Given the description of an element on the screen output the (x, y) to click on. 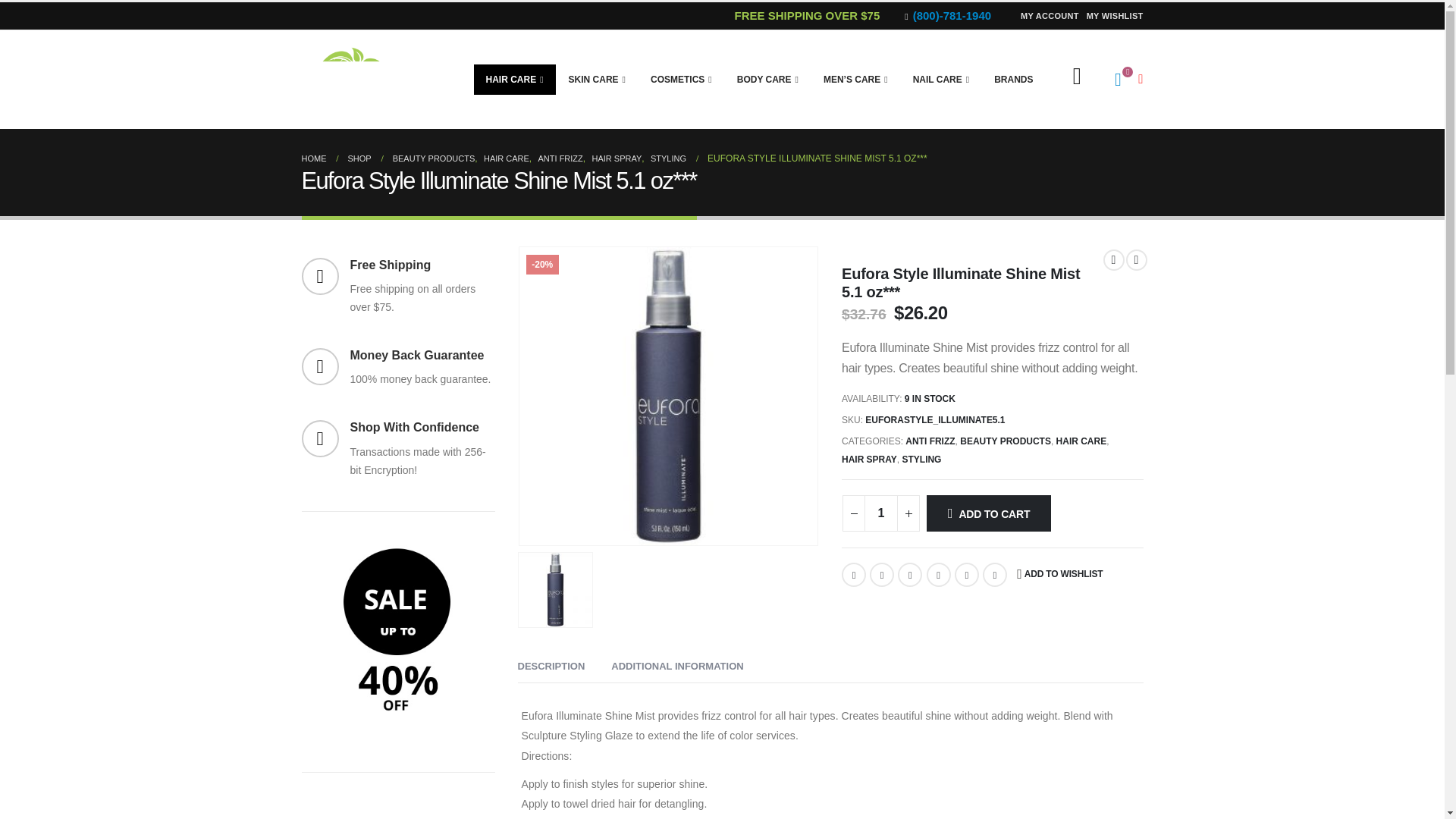
HAIR CARE (515, 79)
Email (994, 574)
Qty (881, 513)
SKIN CARE (596, 79)
Go to Home Page (313, 158)
Facebook (853, 574)
1 (881, 513)
eufora illuminate 5.1 (667, 396)
MY ACCOUNT (1049, 15)
UltraBeauty.shop - Professional Beauty Products (362, 79)
MY WISHLIST (1112, 15)
Twitter (881, 574)
Pinterest (966, 574)
LinkedIn (909, 574)
